Given the description of an element on the screen output the (x, y) to click on. 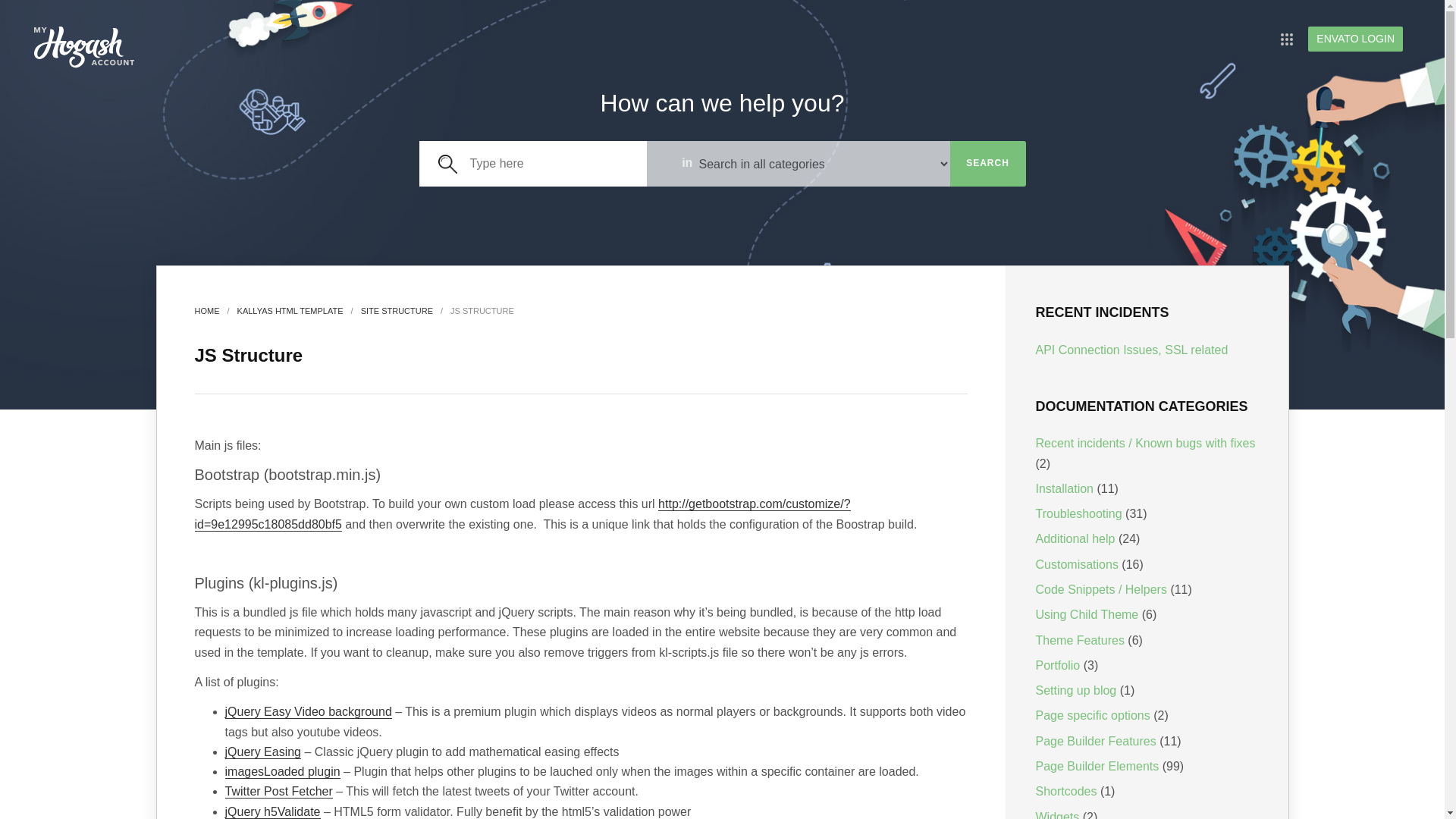
imagesLoaded plugin (281, 771)
KALLYAS HTML TEMPLATE (290, 310)
jQuery Easing (262, 752)
HOME (206, 310)
MY HOGASH ACCOUNT (84, 46)
ENVATO LOGIN (1355, 38)
Search (987, 163)
SITE STRUCTURE (396, 310)
Search (987, 163)
Twitter Post Fetcher (277, 791)
jQuery h5Validate (272, 812)
Search (987, 163)
jQuery Easy Video background (307, 712)
